Given the description of an element on the screen output the (x, y) to click on. 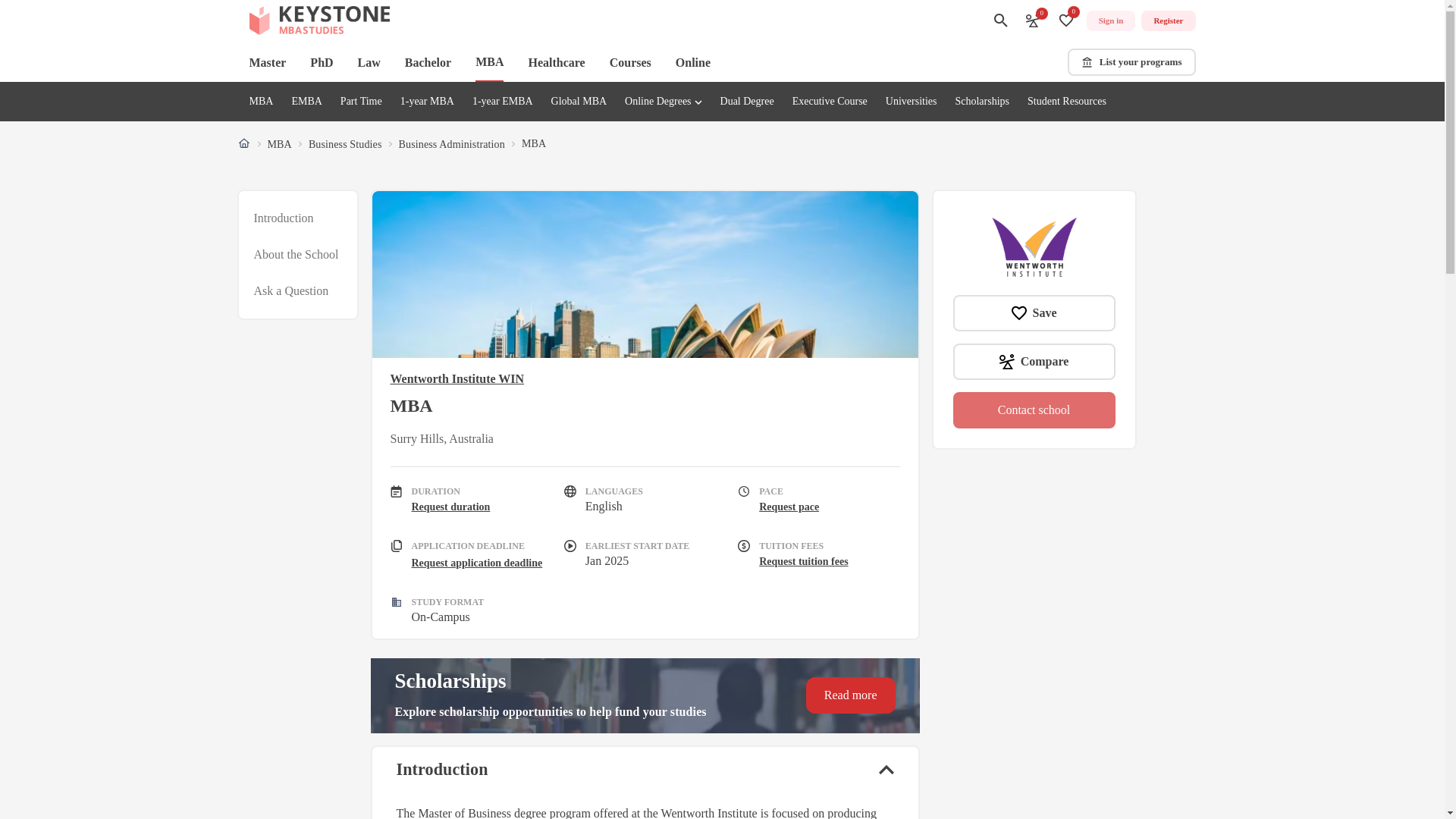
1-year EMBA (501, 101)
Sign in (1110, 20)
Register (1168, 20)
Dual Degree (390, 144)
EMBA (747, 101)
Universities (306, 101)
Healthcare (911, 101)
Global MBA (556, 63)
0 (579, 101)
Courses (1066, 20)
Executive Course (630, 63)
List your programs (829, 101)
MBA (1131, 62)
Bachelor (260, 101)
